Given the description of an element on the screen output the (x, y) to click on. 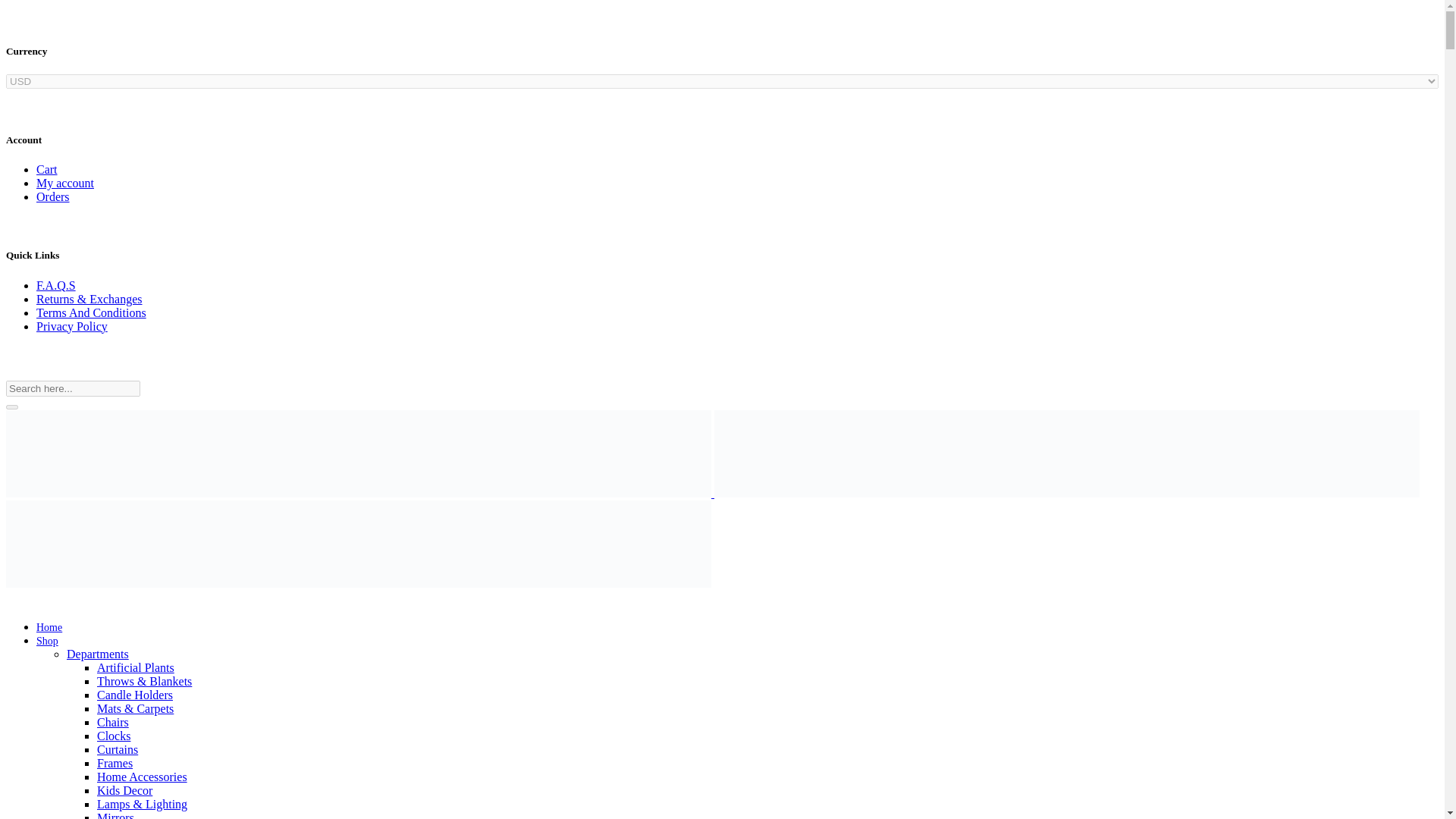
F.A.Q.S (55, 285)
Mirrors (115, 815)
Privacy Policy (71, 326)
Clocks (114, 735)
Home (49, 626)
Orders (52, 196)
Kids Decor (124, 789)
Home Accessories (142, 776)
Curtains (117, 748)
My account (65, 182)
